Given the description of an element on the screen output the (x, y) to click on. 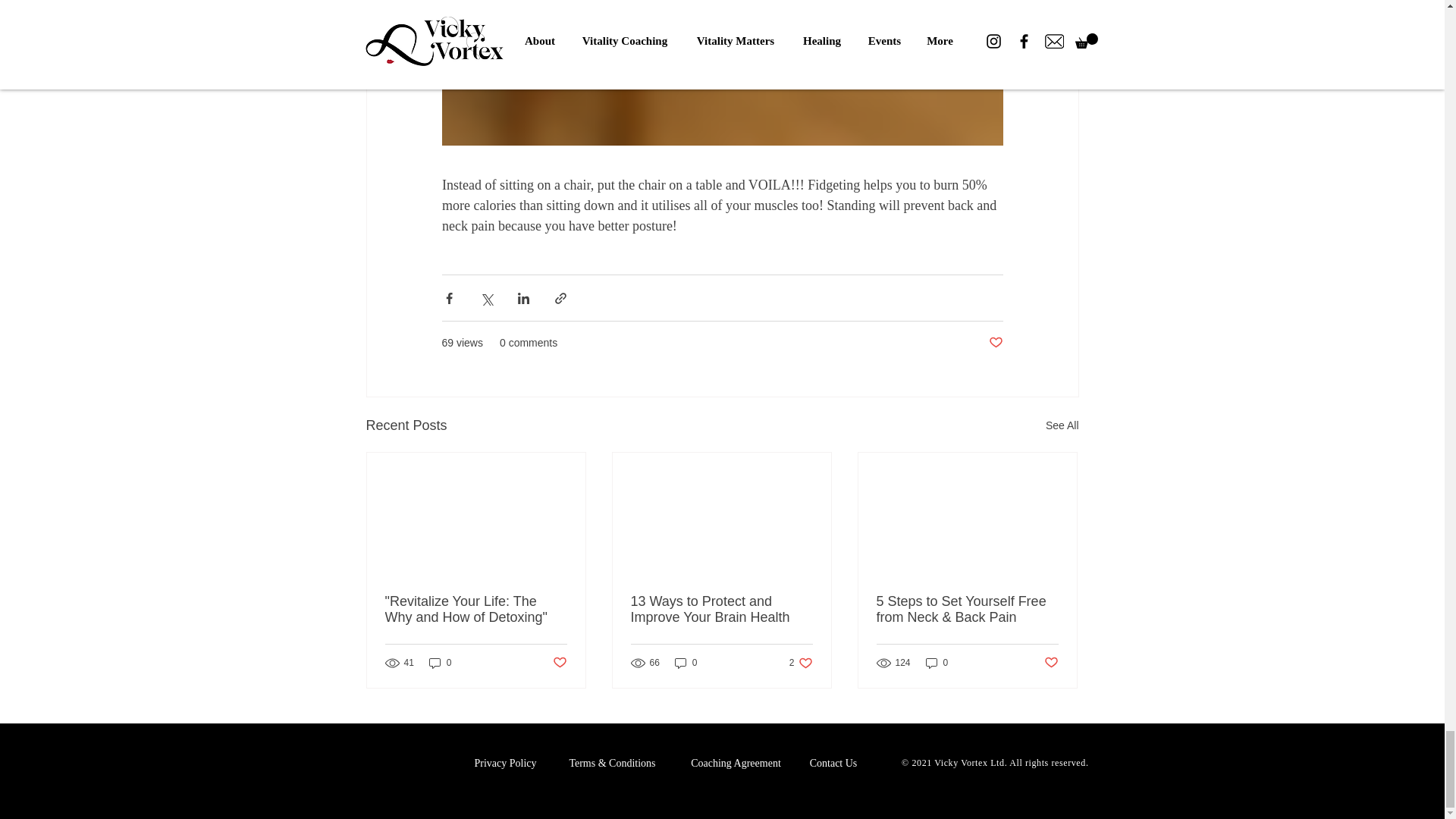
Post not marked as liked (558, 662)
"Revitalize Your Life: The Why and How of Detoxing" (476, 609)
0 (685, 663)
0 (440, 663)
13 Ways to Protect and Improve Your Brain Health (721, 609)
See All (1061, 425)
Post not marked as liked (995, 342)
